Given the description of an element on the screen output the (x, y) to click on. 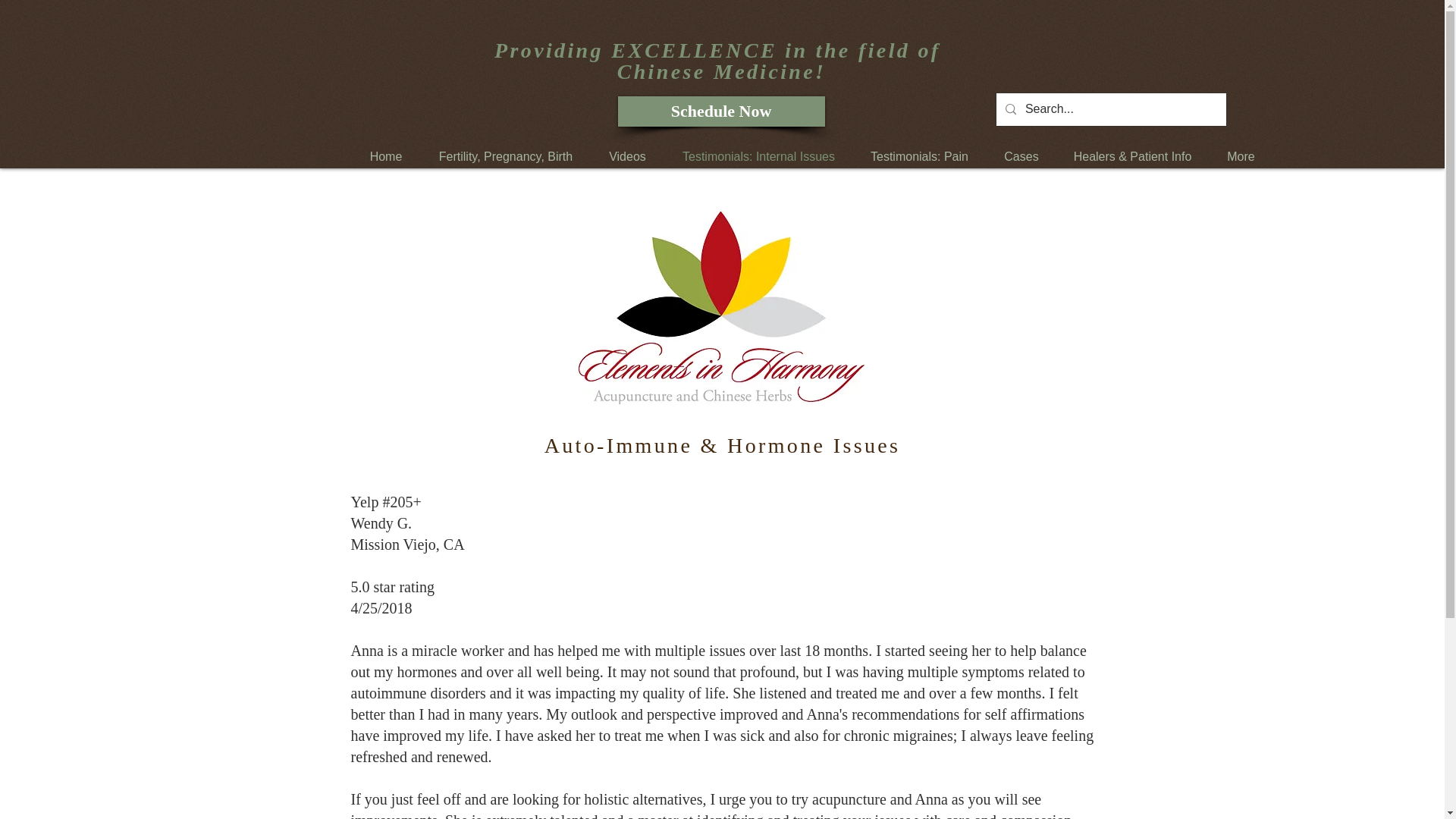
Schedule Now (720, 111)
Fertility, Pregnancy, Birth (506, 157)
Home (385, 157)
